Given the description of an element on the screen output the (x, y) to click on. 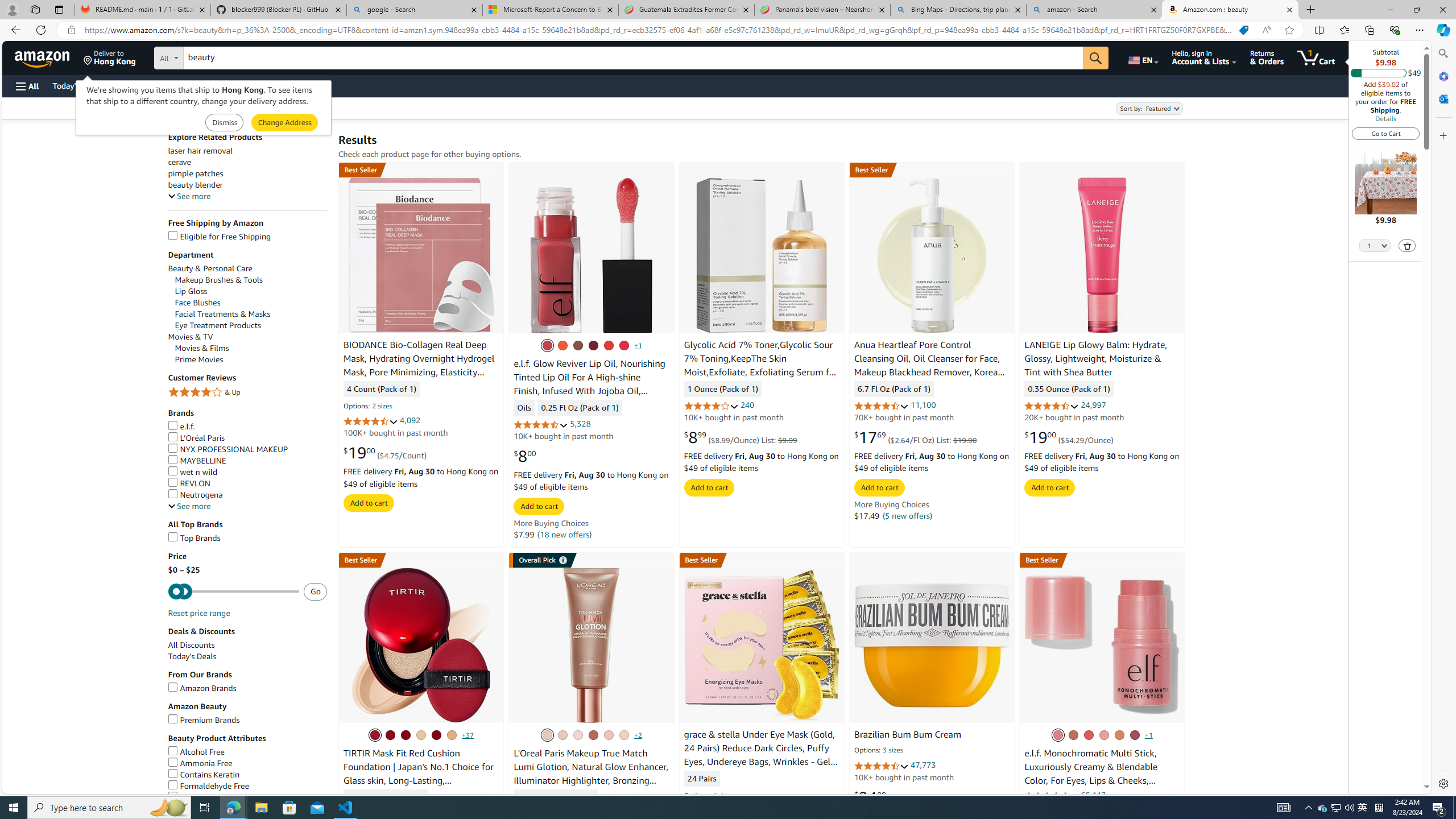
Go back to filtering menu (48, 788)
Prime Movies (199, 359)
NYX PROFESSIONAL MAKEUP (227, 449)
Honey Talks (577, 344)
Minimum (233, 591)
Red Delicious (623, 344)
Luminous Berry (1134, 734)
Face Blushes (250, 302)
Neutrogena (247, 494)
amazon - Search (1094, 9)
Contains Keratin (247, 774)
17C Porcelain (389, 734)
